Given the description of an element on the screen output the (x, y) to click on. 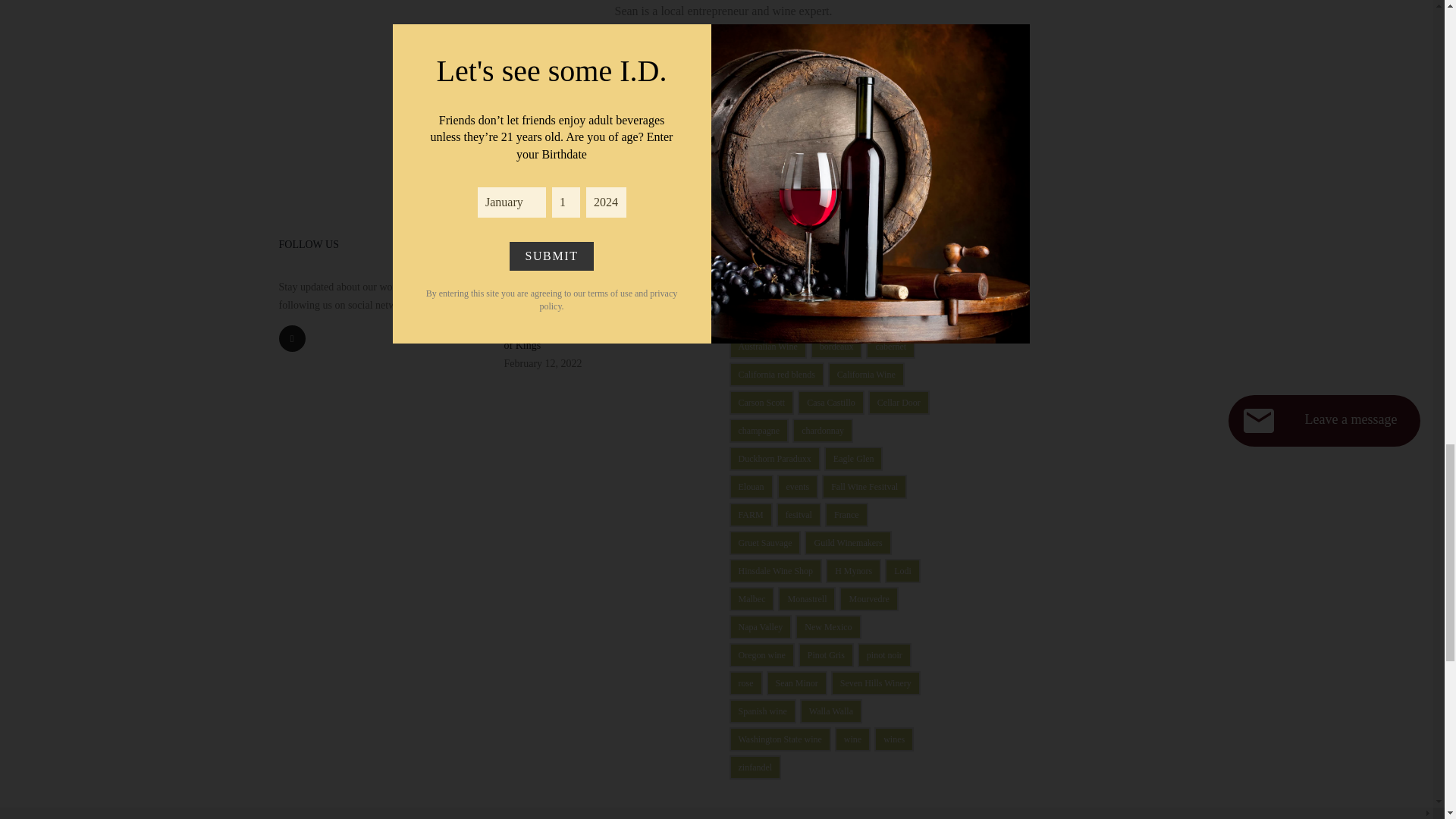
cabernet (890, 346)
Anne Hubatch (764, 318)
bordeaux (836, 346)
Carson Scott (761, 402)
Argentina (831, 318)
California red blends (776, 374)
Casa Castillo (830, 402)
5OS Project (819, 290)
February 12, 2022 (541, 363)
American wine (893, 290)
California Wine (866, 374)
4th of july (757, 290)
March 12, 2022 (536, 301)
Australian Wine (767, 346)
